Given the description of an element on the screen output the (x, y) to click on. 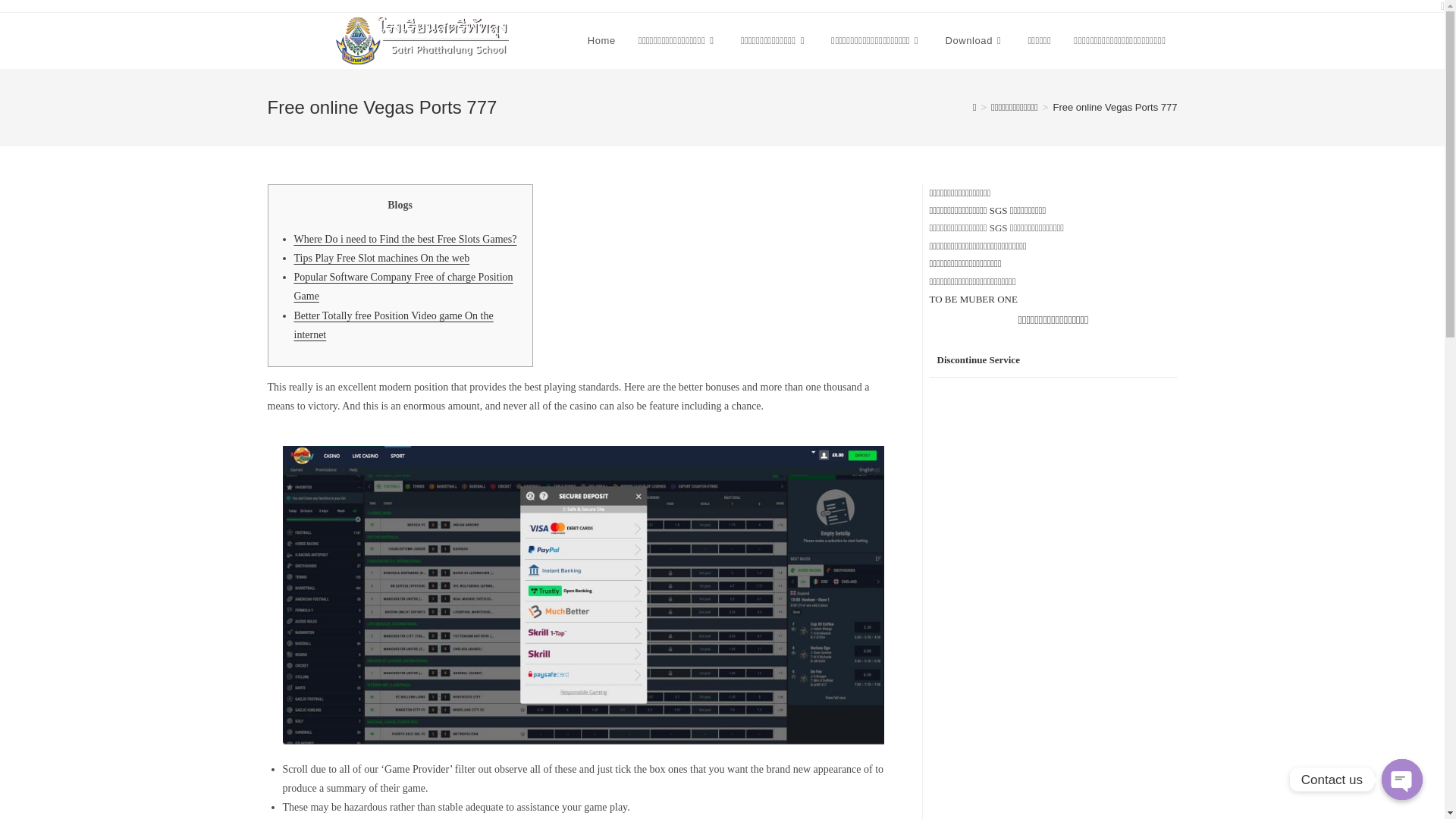
Home (601, 40)
Free Counter by Siamecohost.Com (936, 484)
Download (974, 40)
Free Counter by Siamecohost.Com (978, 359)
